Given the description of an element on the screen output the (x, y) to click on. 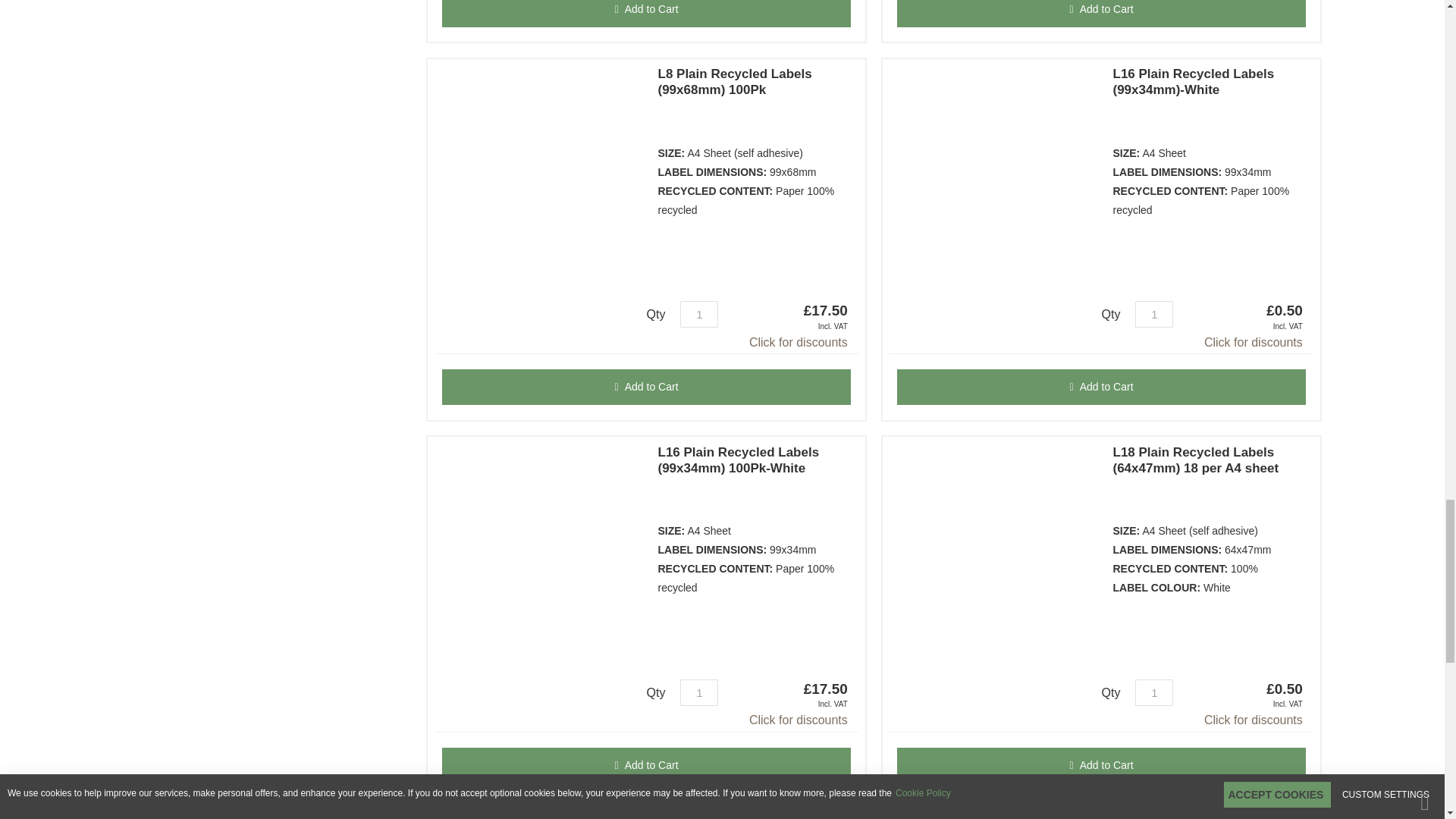
1 (698, 314)
1 (1154, 692)
1 (698, 692)
1 (1154, 314)
